Given the description of an element on the screen output the (x, y) to click on. 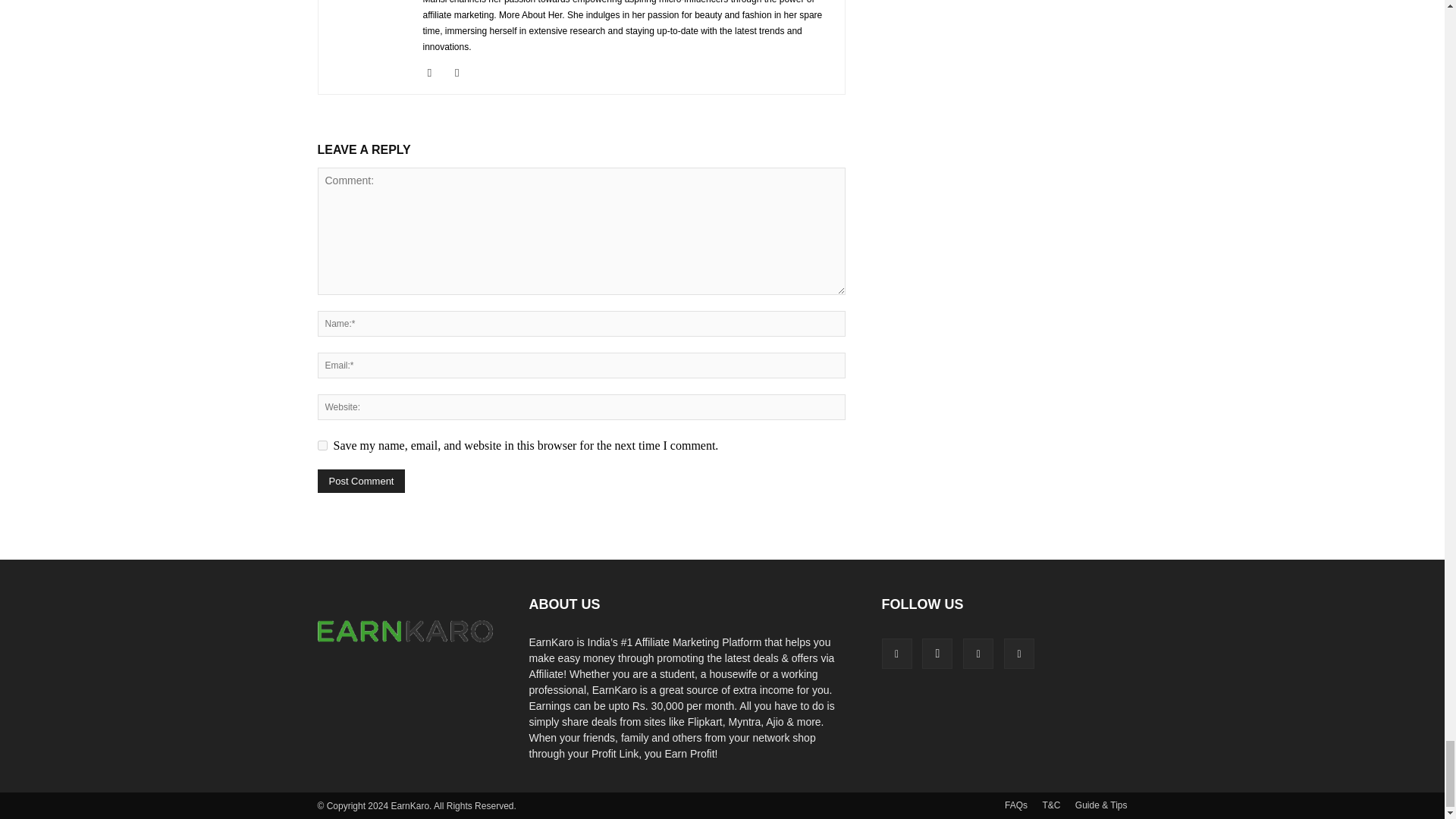
Post Comment (360, 481)
yes (321, 445)
Linkedin (435, 72)
Mail (462, 72)
